Given the description of an element on the screen output the (x, y) to click on. 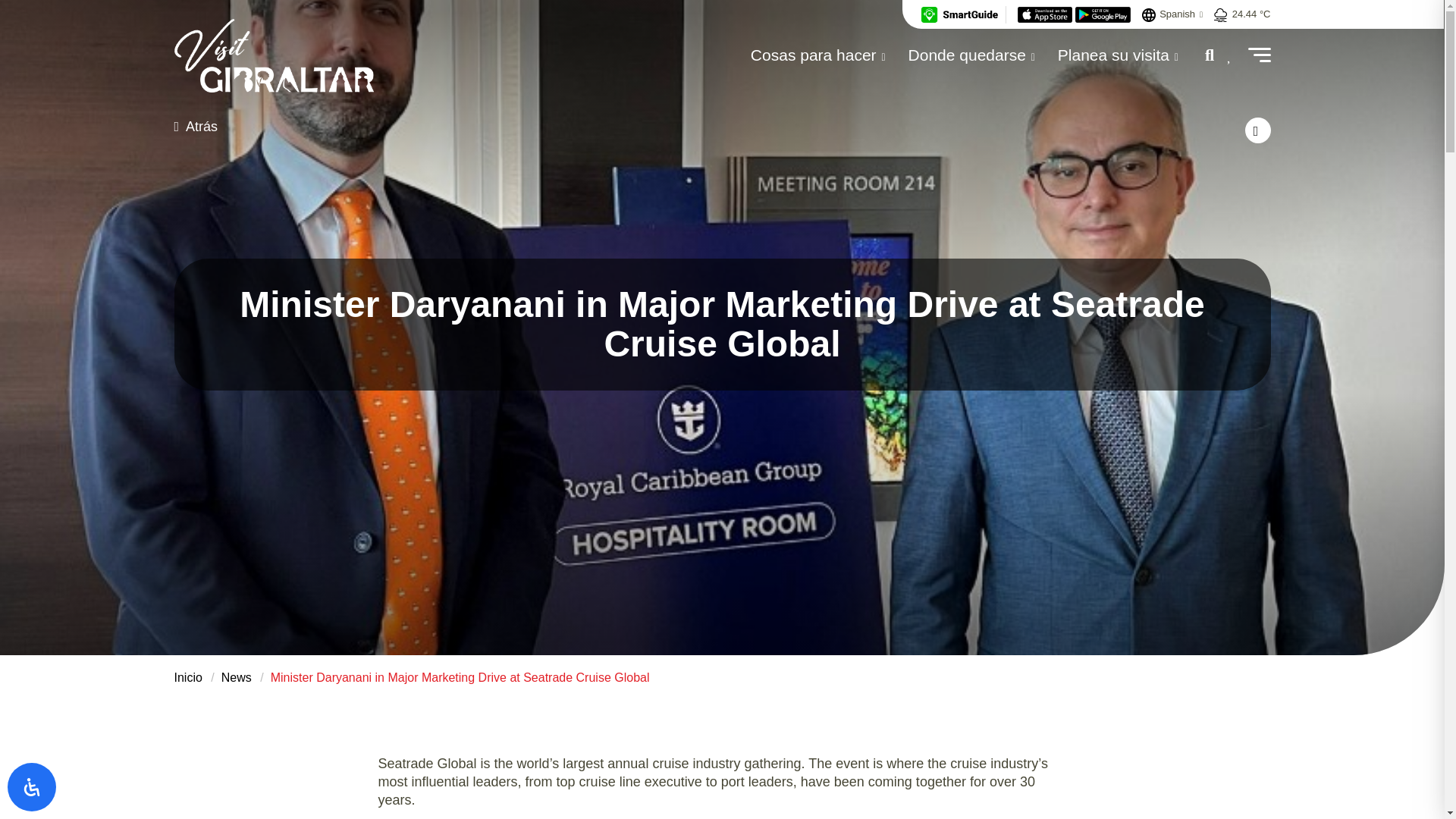
Cosas para hacer (818, 54)
Descargar en la App Store (1046, 13)
Visit Gibraltar (274, 54)
News (236, 676)
Planea su visita (1117, 54)
Obtener en Google Play (1102, 13)
Smart Guide (959, 13)
Compartir (1257, 130)
Idioma (1148, 15)
Inicio (188, 676)
Donde quedarse (971, 54)
